Given the description of an element on the screen output the (x, y) to click on. 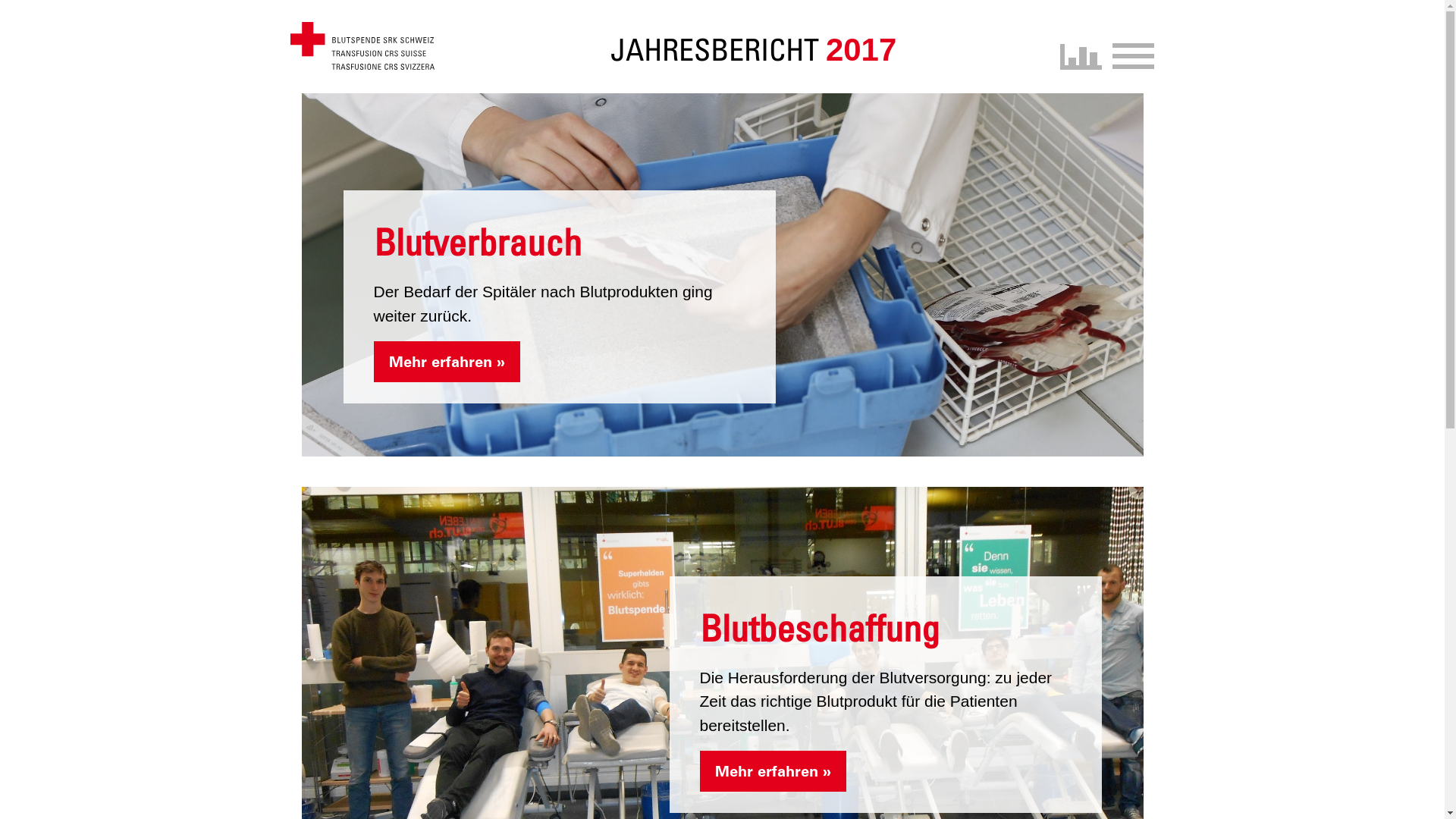
JAHRESBERICHT 2017 Element type: text (753, 50)
Kennzahlen 2017 ansehen Element type: hover (1080, 56)
